Given the description of an element on the screen output the (x, y) to click on. 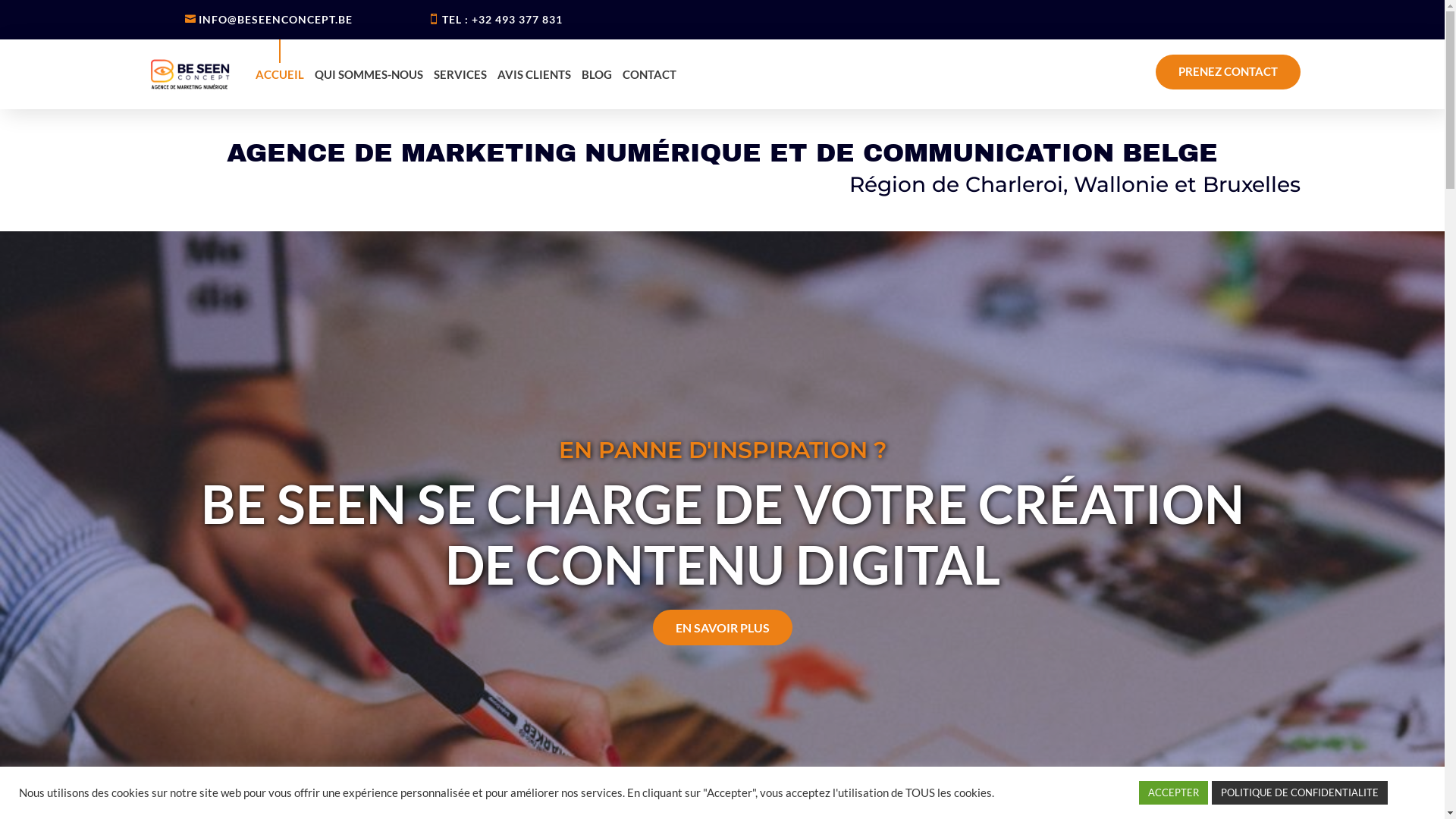
EN SAVOIR PLUS Element type: text (721, 671)
SERVICES Element type: text (459, 74)
BLOG Element type: text (595, 74)
TEL : +32 493 377 831 Element type: text (502, 19)
CONTACT Element type: text (648, 74)
INFO@BESEENCONCEPT.BE Element type: text (275, 19)
POLITIQUE DE CONFIDENTIALITE Element type: text (1299, 792)
ACCEPTER Element type: text (1173, 792)
ACCUEIL Element type: text (278, 74)
PRENEZ CONTACT Element type: text (1227, 71)
EN PANNE D'INSPIRATION ? Element type: text (721, 496)
AVIS CLIENTS Element type: text (534, 74)
QUI SOMMES-NOUS Element type: text (367, 74)
